Given the description of an element on the screen output the (x, y) to click on. 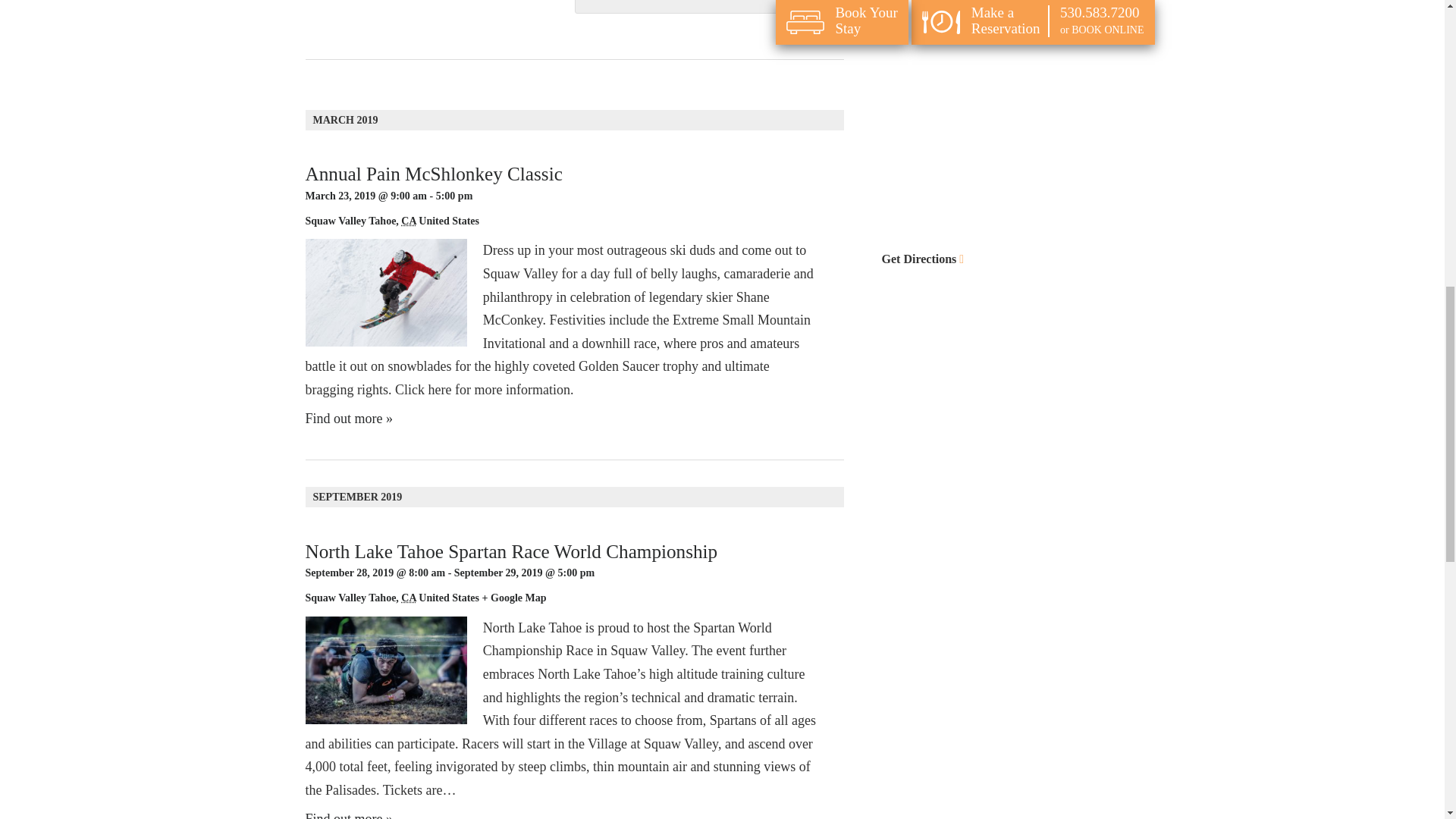
North Lake Tahoe Spartan Race World Championship (510, 551)
Squaw Valley (335, 597)
North Lake Tahoe Spartan Race World Championship (510, 551)
Squaw Valley (335, 220)
Annual Pain McShlonkey Classic (433, 173)
Get Directions (1017, 259)
Annual Pain McShlonkey Classic (433, 173)
Squaw Valley (335, 220)
California (407, 220)
